Given the description of an element on the screen output the (x, y) to click on. 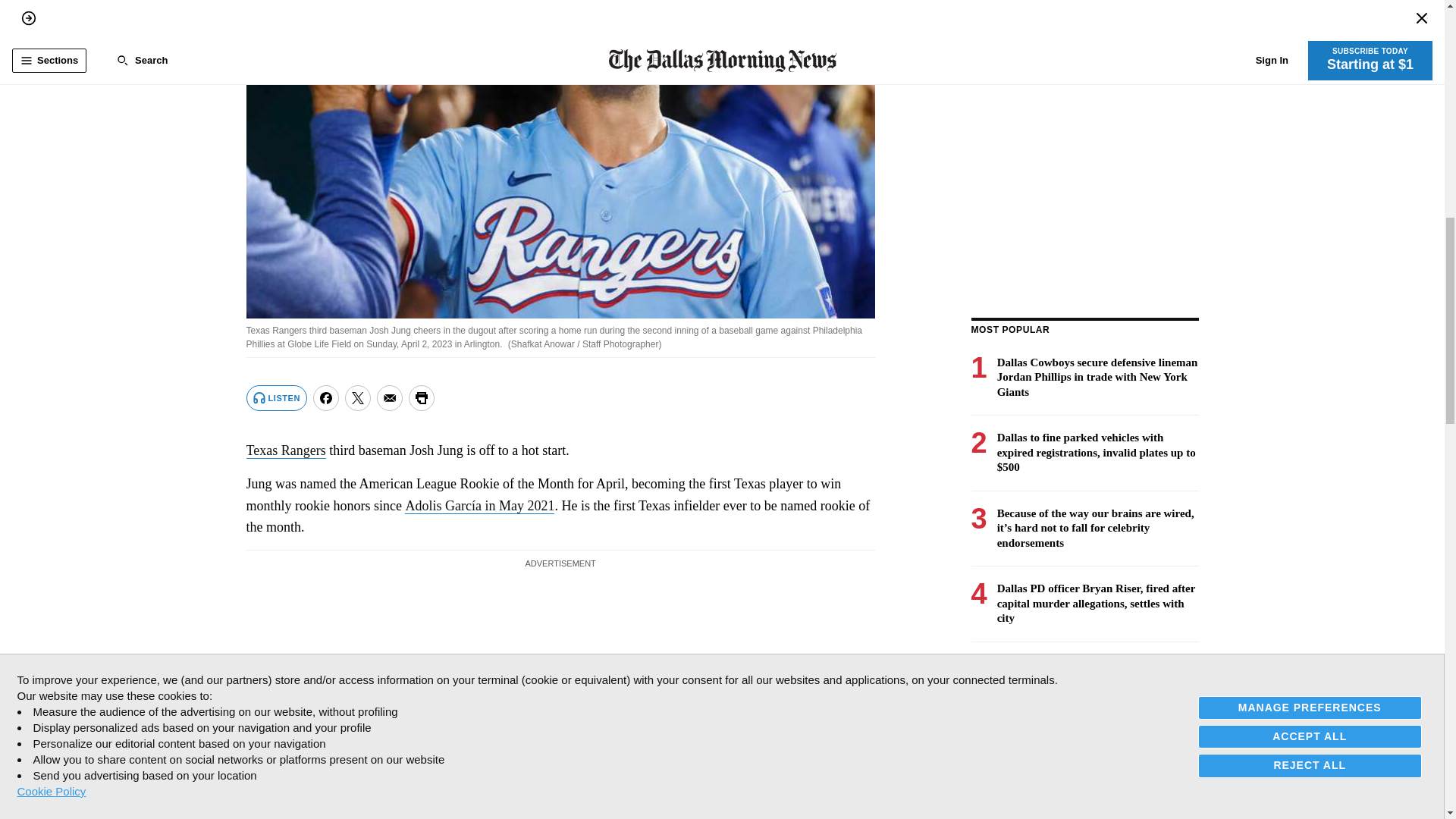
Share on Facebook (326, 397)
Print (421, 397)
Share on Twitter (358, 397)
Share via Email (390, 397)
